Given the description of an element on the screen output the (x, y) to click on. 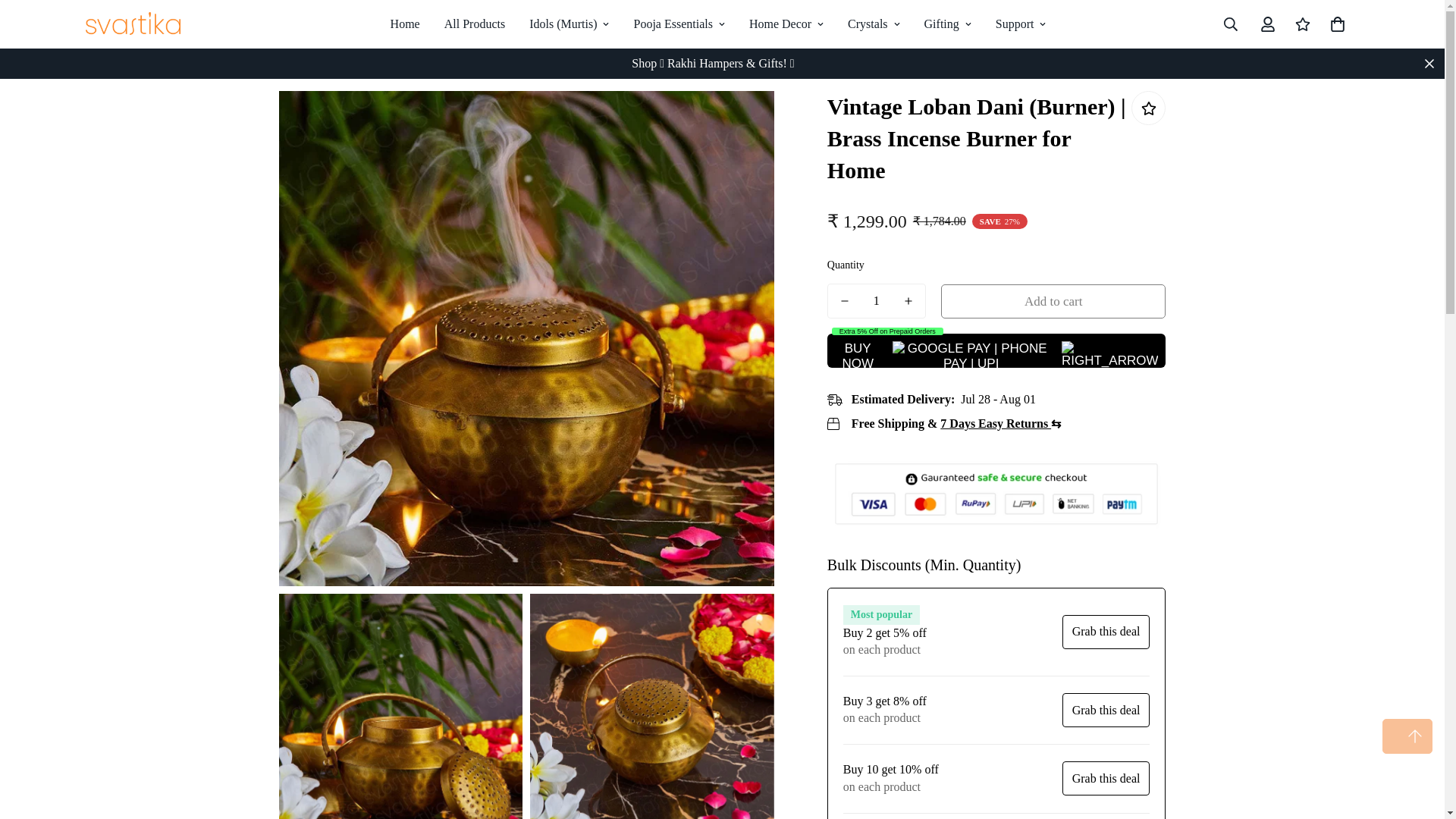
Svastika (131, 24)
1 (876, 300)
